Given the description of an element on the screen output the (x, y) to click on. 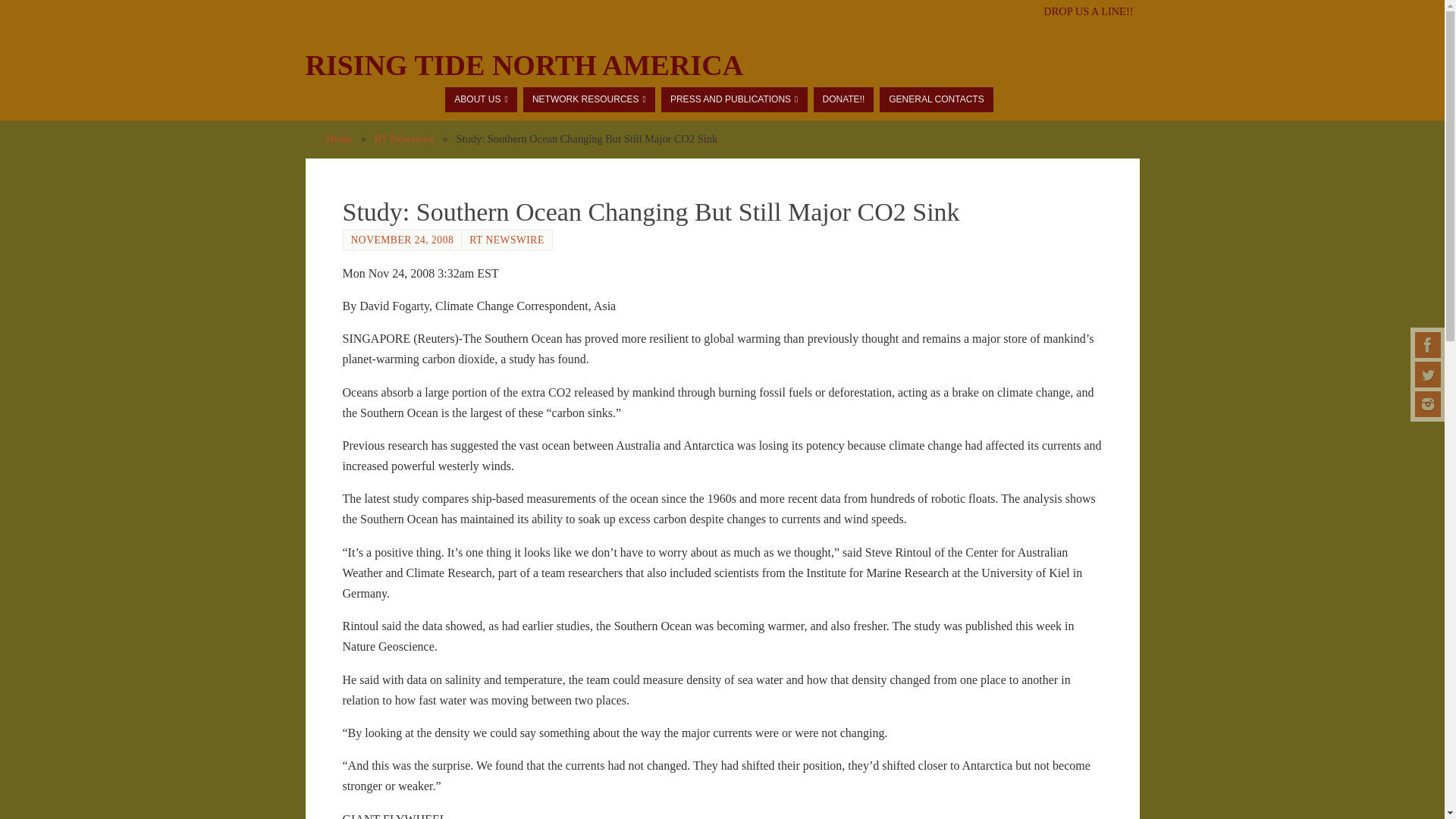
GENERAL CONTACTS (935, 98)
DROP US A LINE!! (1088, 11)
Home (339, 138)
RISING TIDE NORTH AMERICA (523, 64)
RT NEWSWIRE (505, 239)
NETWORK RESOURCES (588, 98)
Twitter (1428, 374)
Facebook (1428, 344)
NOVEMBER 24, 2008 (401, 239)
ABOUT US (480, 98)
Instagram (1428, 403)
Rising Tide North America (523, 64)
RT Newswire (403, 138)
PRESS AND PUBLICATIONS (734, 98)
DONATE!! (842, 98)
